Given the description of an element on the screen output the (x, y) to click on. 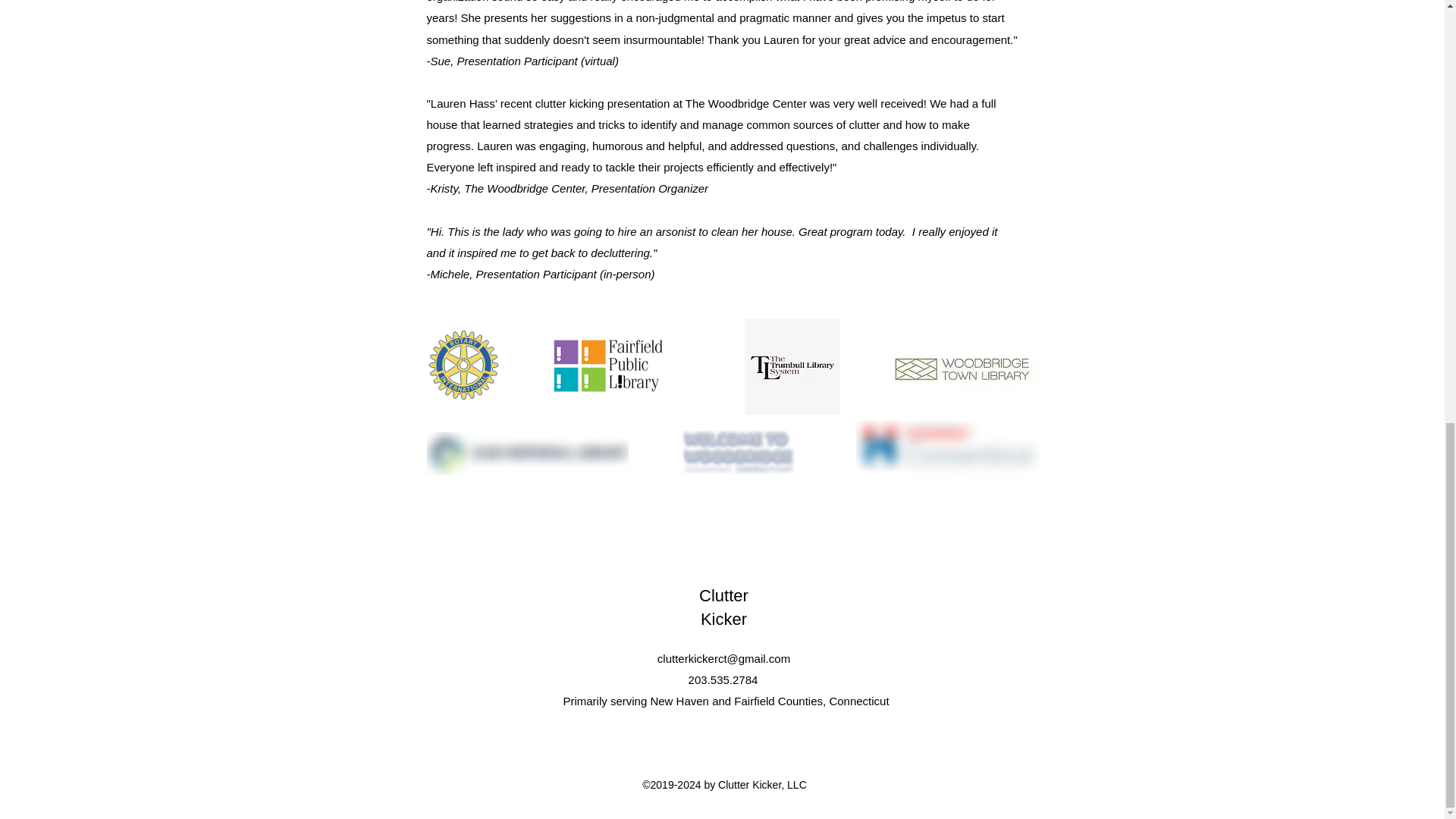
trumbull library.jpg (792, 366)
Clutter Kicker (723, 607)
woodbridge library.jpg (962, 368)
hadassah.png (949, 446)
